Given the description of an element on the screen output the (x, y) to click on. 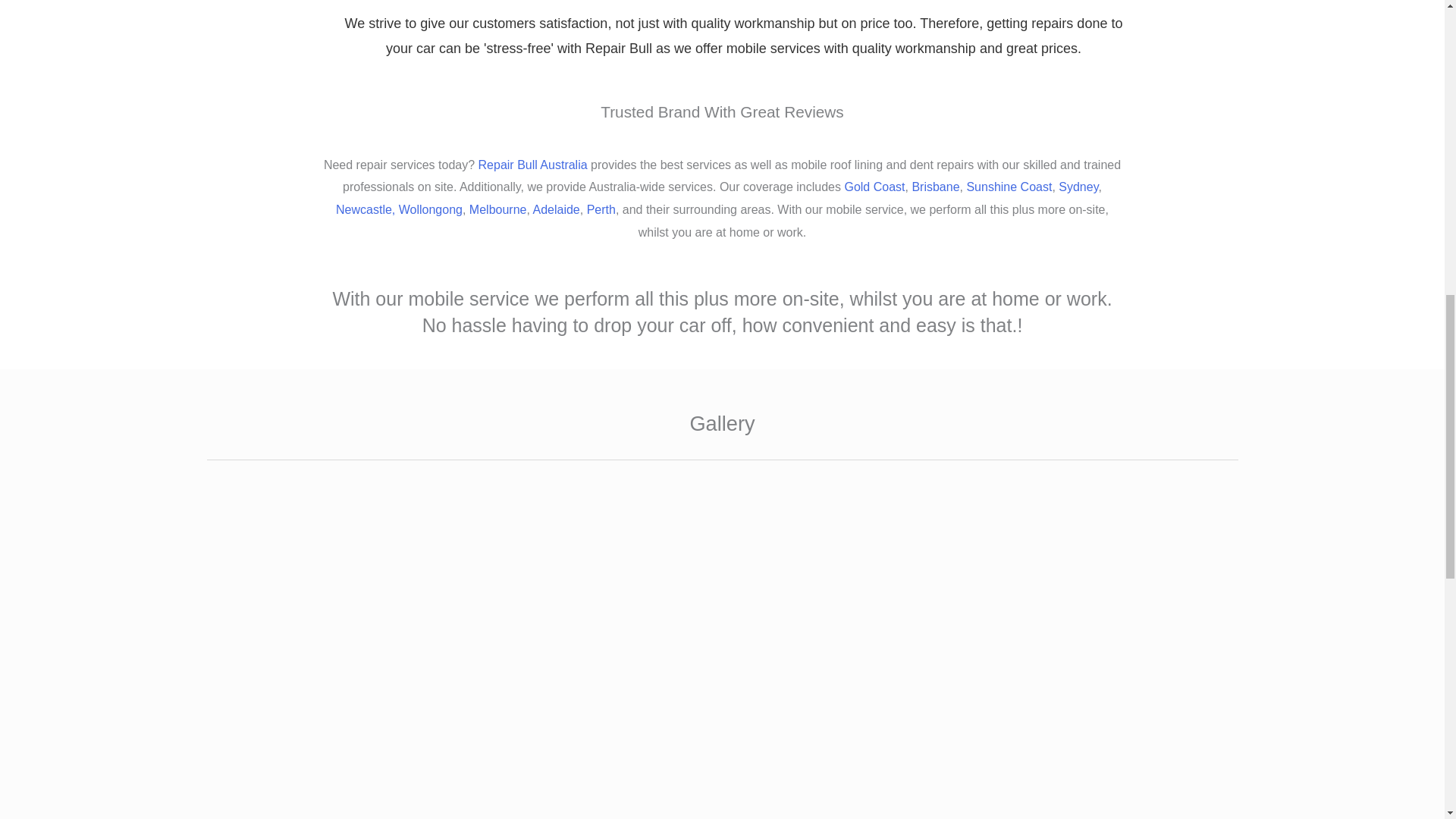
img-1 (1076, 662)
img-2 (721, 662)
img-3 (367, 662)
